Given the description of an element on the screen output the (x, y) to click on. 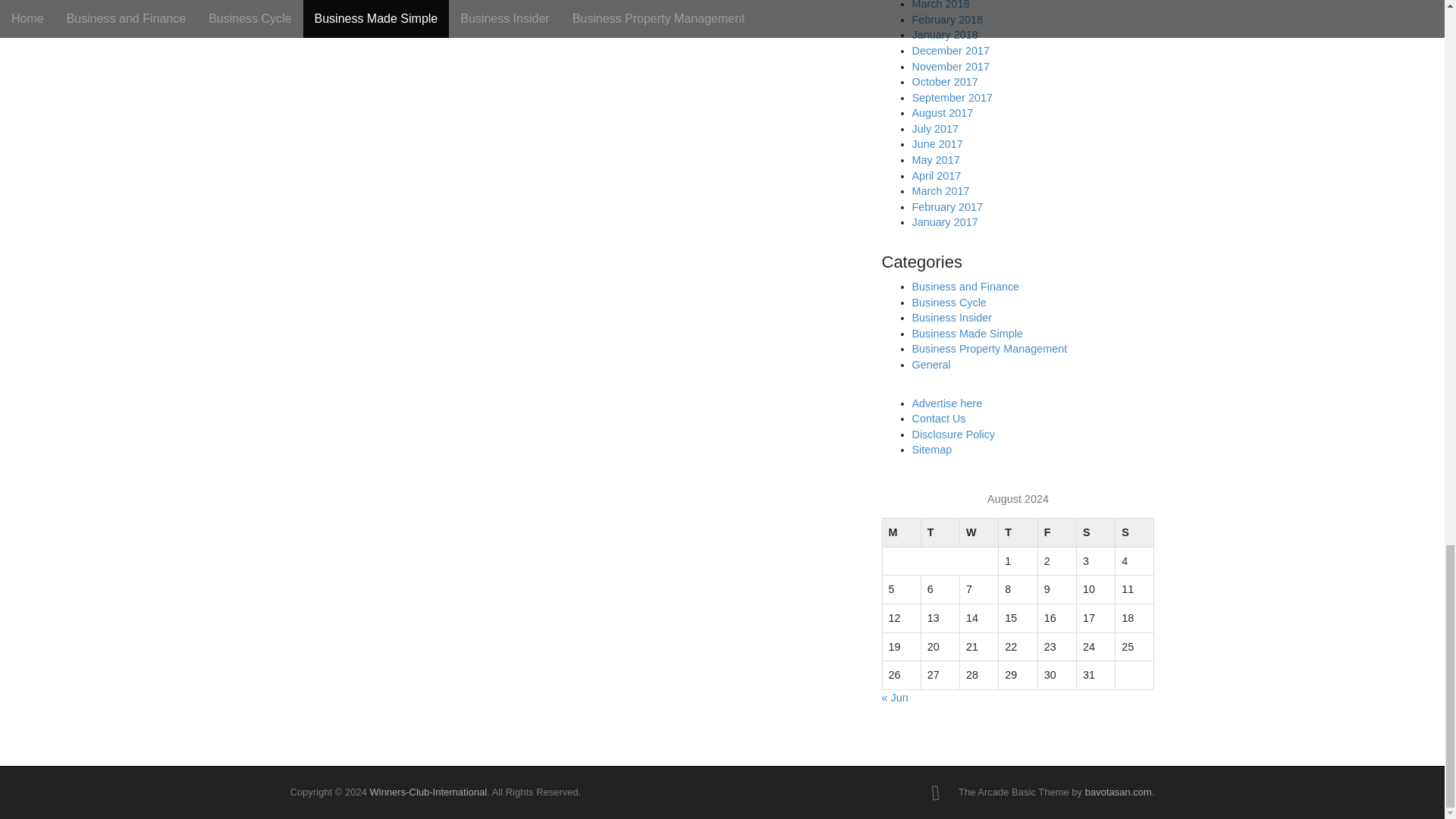
Sunday (1134, 532)
Wednesday (978, 532)
Monday (901, 532)
Saturday (1095, 532)
Thursday (1017, 532)
Friday (1055, 532)
Tuesday (939, 532)
